Given the description of an element on the screen output the (x, y) to click on. 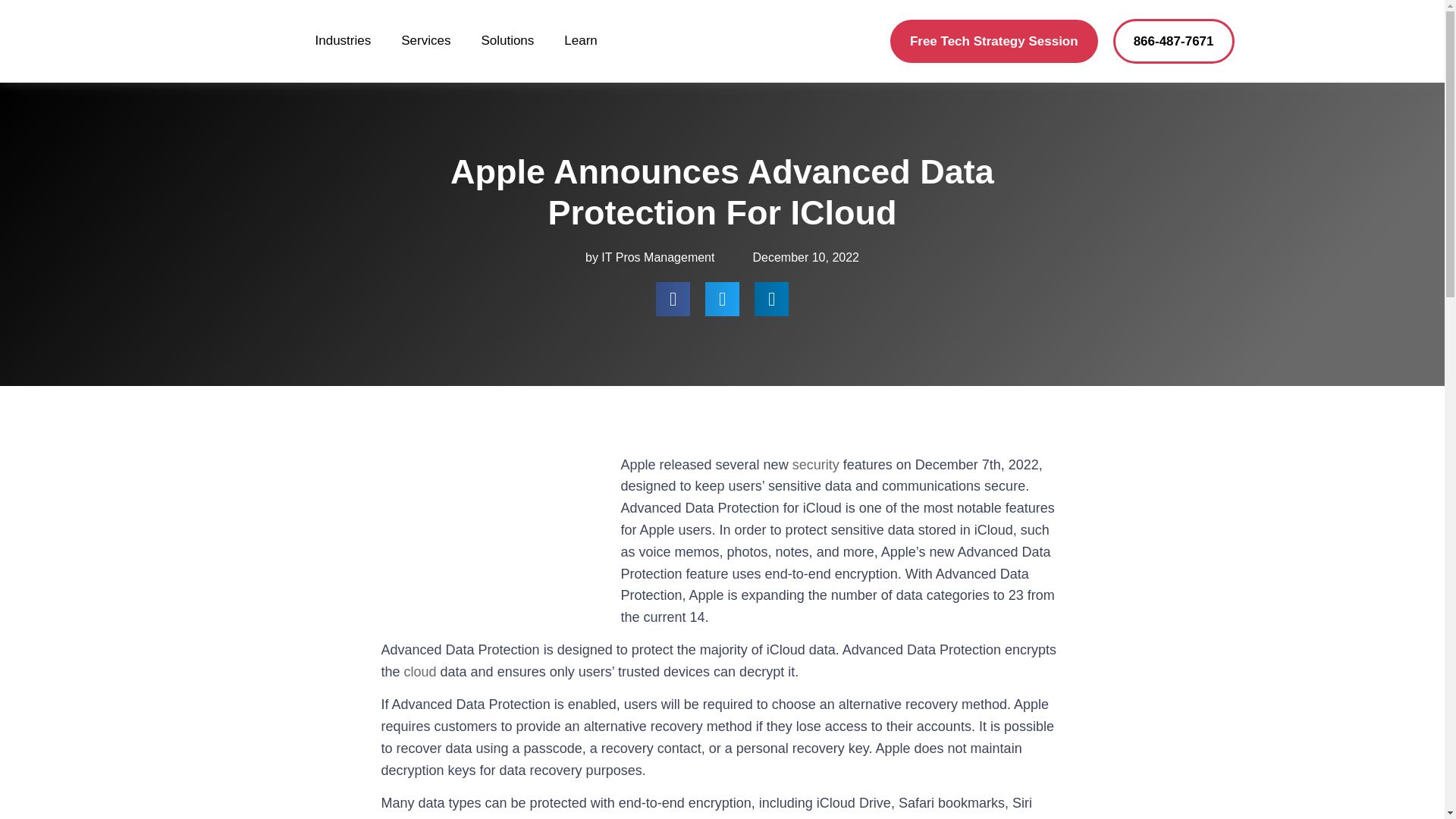
Industries (343, 40)
Cloud Services (420, 671)
Learn (580, 40)
Cybersecurity (816, 464)
Services (425, 40)
Solutions (507, 40)
